Given the description of an element on the screen output the (x, y) to click on. 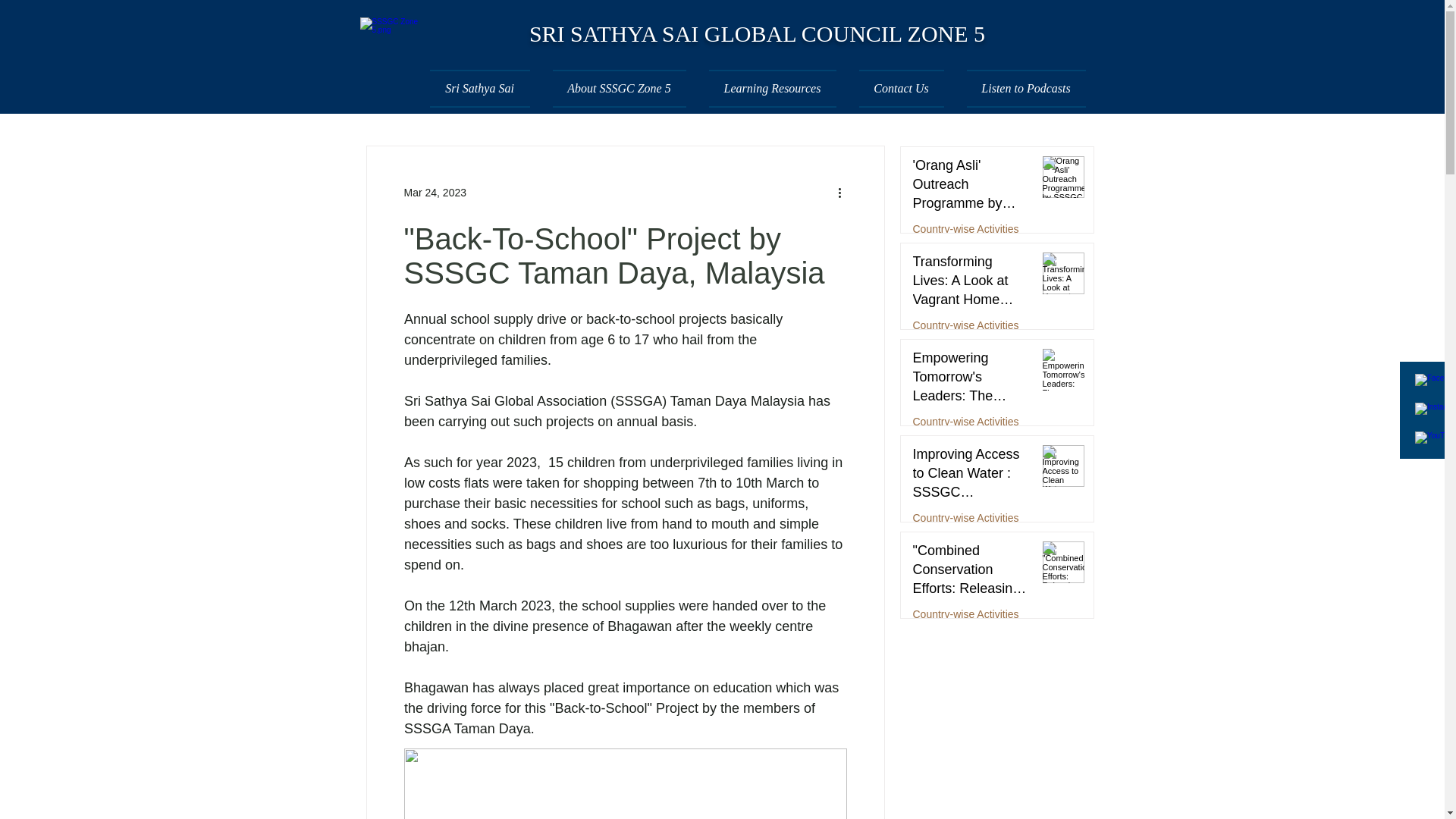
Listen to Podcasts (1020, 88)
Learning Resources (772, 88)
Contact Us (901, 88)
Mar 24, 2023 (434, 192)
